Given the description of an element on the screen output the (x, y) to click on. 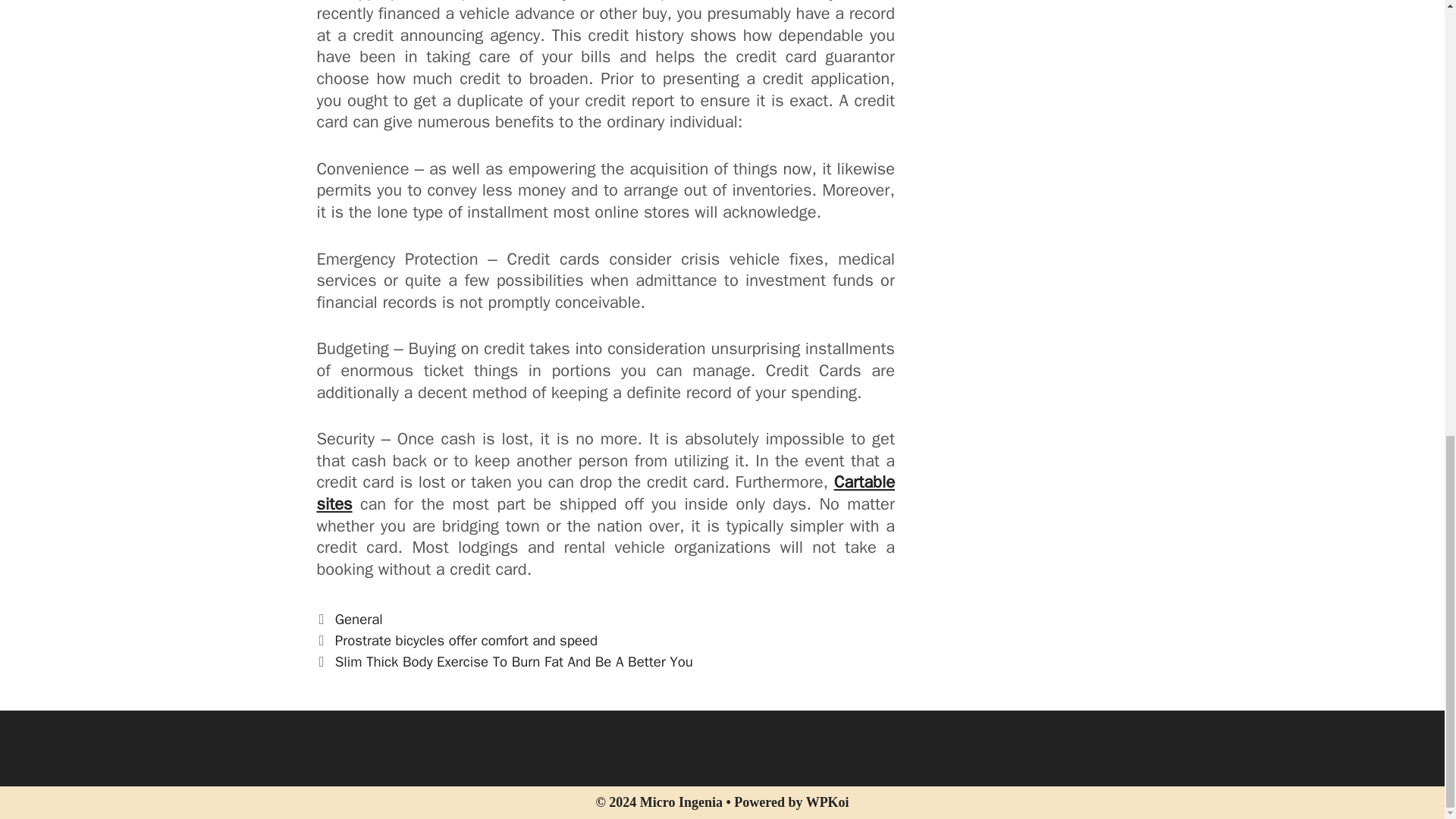
Slim Thick Body Exercise To Burn Fat And Be A Better You (513, 661)
WPKoi (827, 801)
Cartable sites (606, 493)
Prostrate bicycles offer comfort and speed (465, 640)
General (358, 619)
Previous (457, 640)
Next (505, 661)
